Given the description of an element on the screen output the (x, y) to click on. 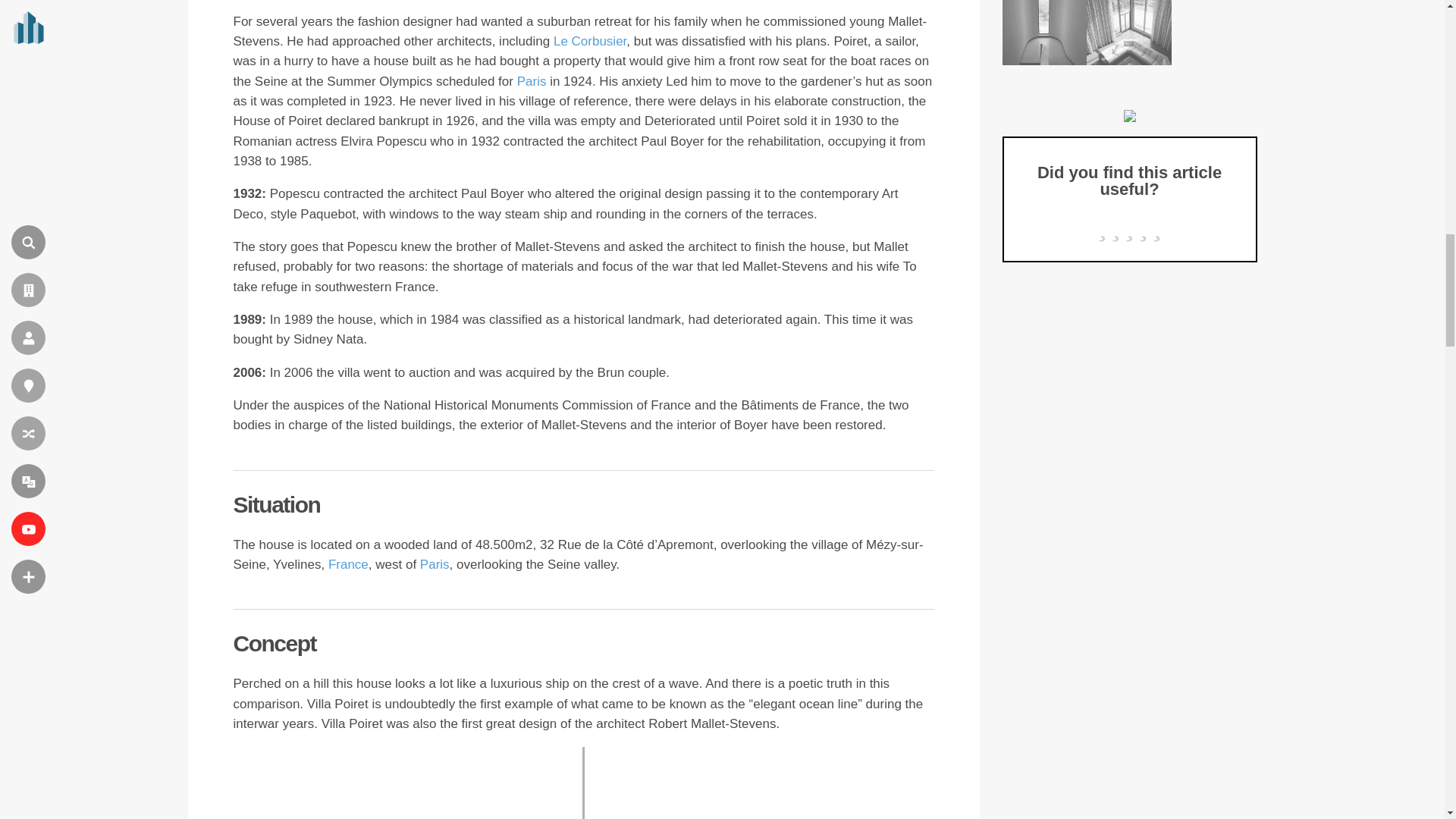
Paris (531, 81)
Paris (434, 564)
Le Corbusier (589, 41)
France (348, 564)
